Given the description of an element on the screen output the (x, y) to click on. 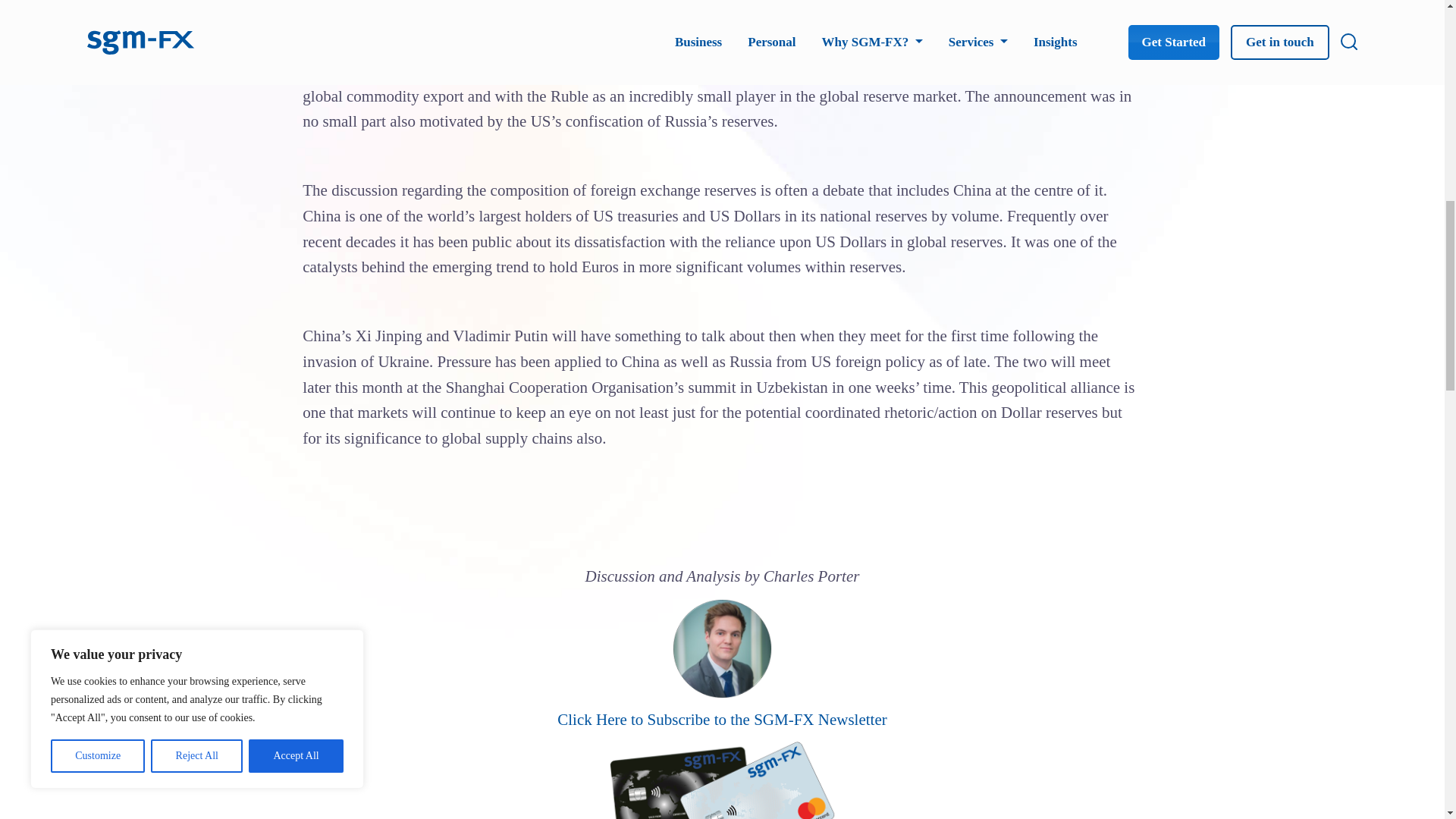
Click Here to Subscribe to the SGM-FX Newsletter (721, 719)
